Given the description of an element on the screen output the (x, y) to click on. 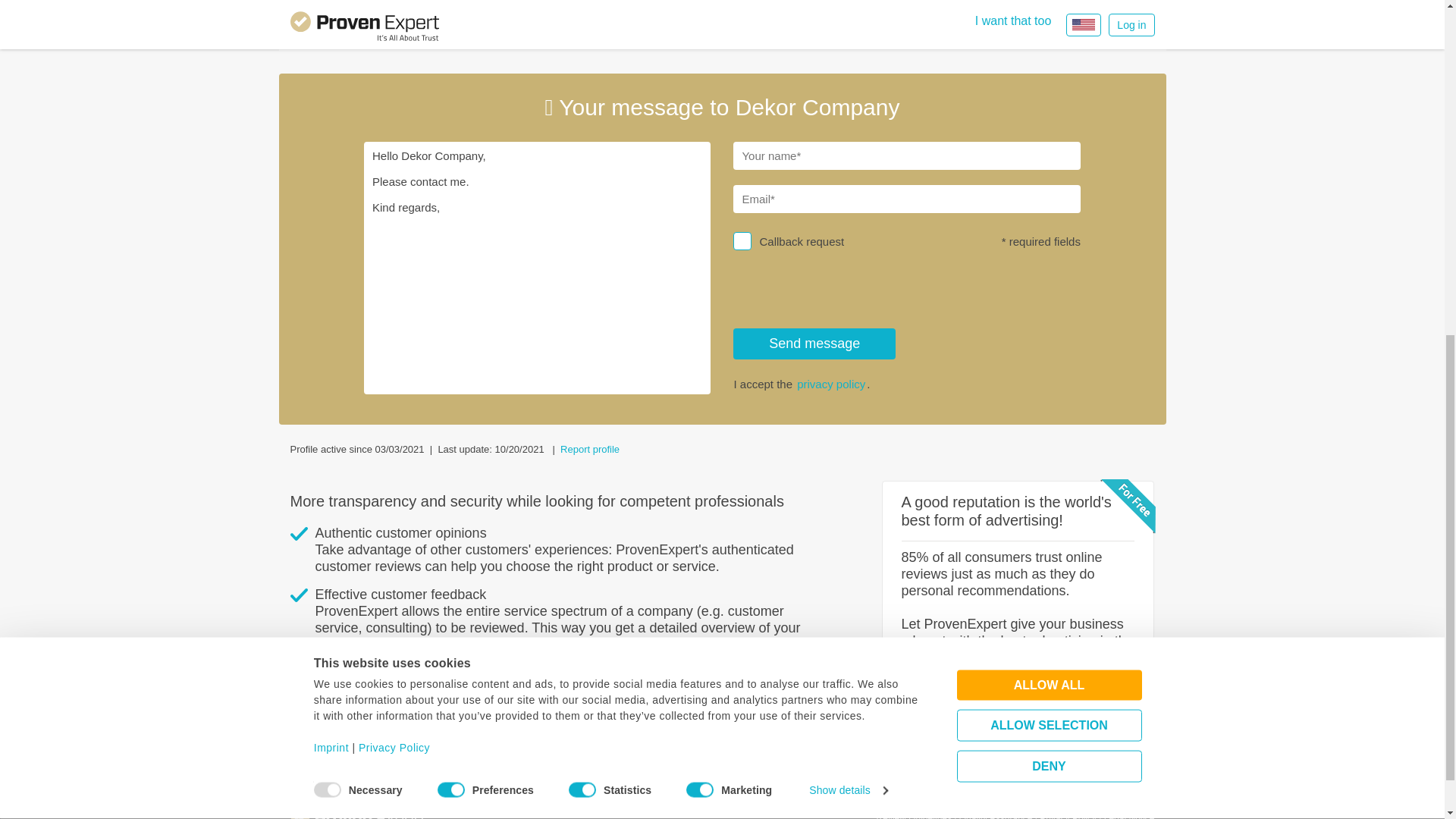
Show details (847, 192)
Privacy Policy (393, 150)
Imprint (331, 150)
